Given the description of an element on the screen output the (x, y) to click on. 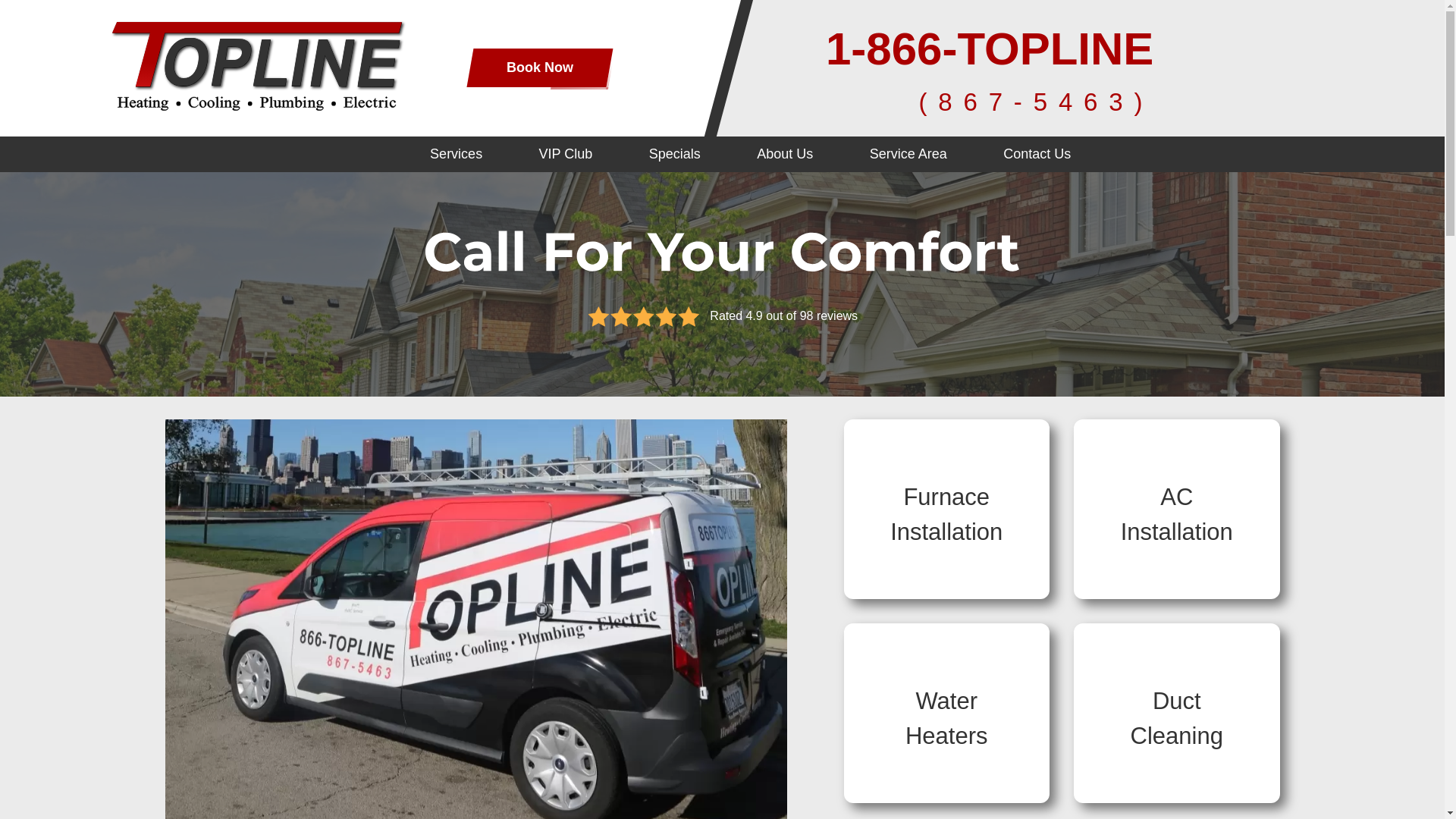
VIP Club (566, 153)
Specials (674, 153)
Services (455, 153)
Book Now (536, 67)
About Us (785, 153)
Service Area (908, 153)
